Given the description of an element on the screen output the (x, y) to click on. 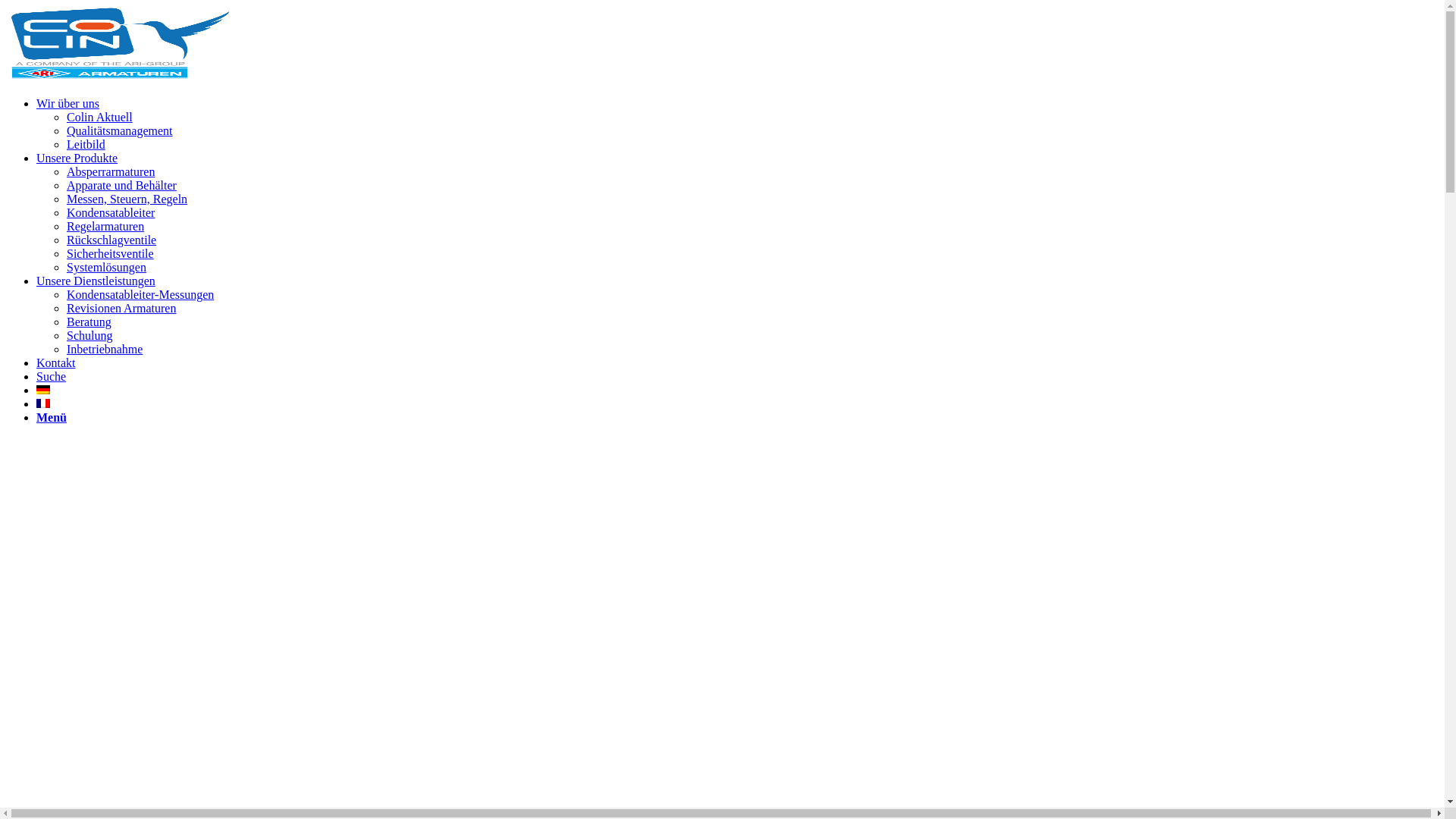
Deutsch Element type: hover (43, 389)
Kondensatableiter Element type: text (110, 212)
Regelarmaturen Element type: text (105, 225)
Kontakt Element type: text (55, 362)
Colin Aktuell Element type: text (99, 116)
Beratung Element type: text (88, 321)
Revisionen Armaturen Element type: text (120, 307)
Unsere Produkte Element type: text (76, 157)
Messen, Steuern, Regeln Element type: text (126, 198)
Unsere Dienstleistungen Element type: text (95, 280)
Inbetriebnahme Element type: text (104, 348)
Absperrarmaturen Element type: text (110, 171)
Kondensatableiter-Messungen Element type: text (139, 294)
Sicherheitsventile Element type: text (109, 253)
Suche Element type: text (50, 376)
Schulung Element type: text (89, 335)
Leitbild Element type: text (85, 144)
